Given the description of an element on the screen output the (x, y) to click on. 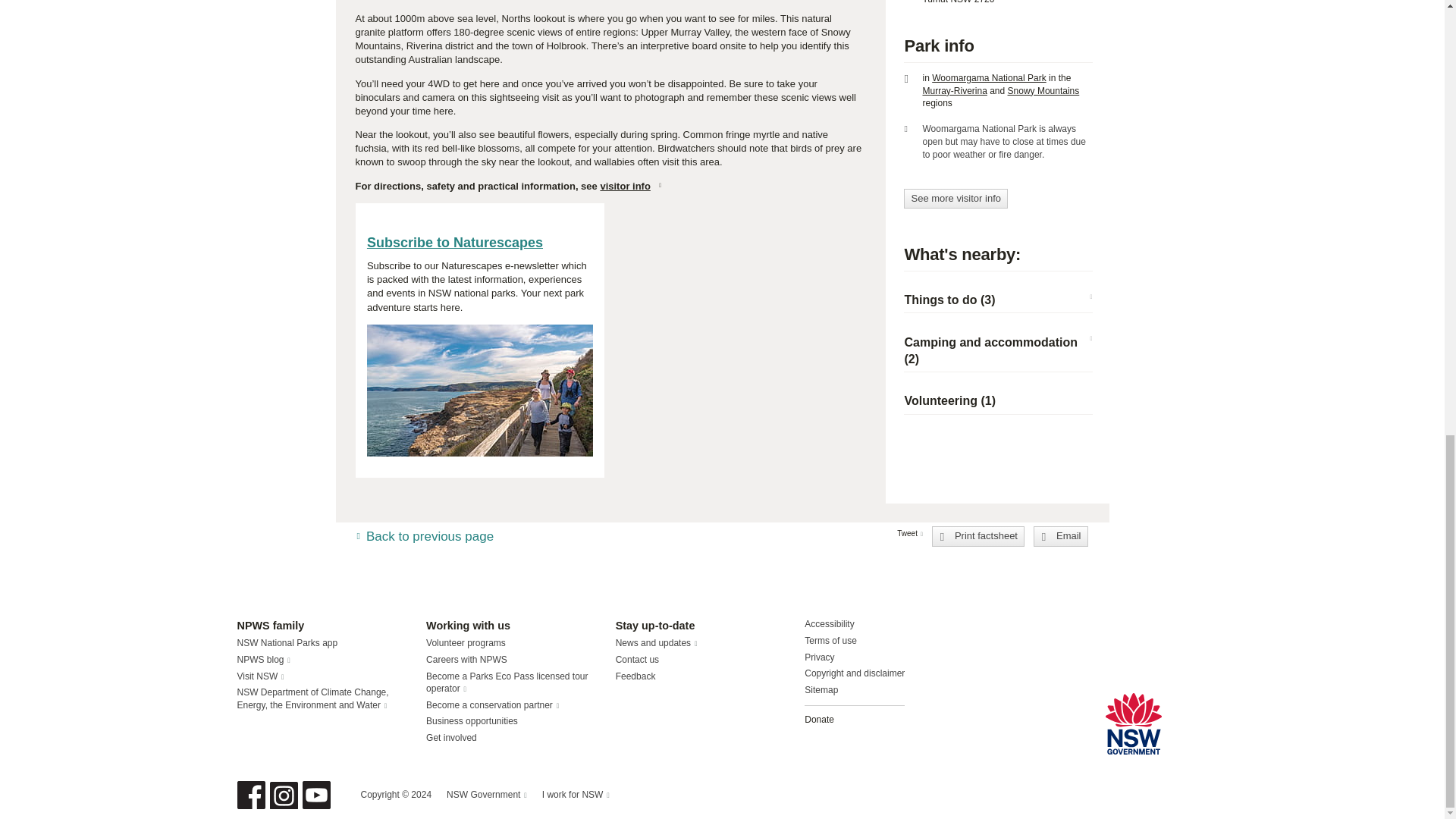
Visit NSW National Parks on Facebook (249, 795)
Visit NSW National Parks on Instagram (283, 795)
See more things to do nearby (949, 299)
See more volunteering nearby (949, 400)
Print-friendly version of these webpages (978, 536)
Visit NSW National Parks on Youtube (315, 795)
New South Wales Government (1133, 723)
See more camping and accommodation nearby (990, 350)
